Given the description of an element on the screen output the (x, y) to click on. 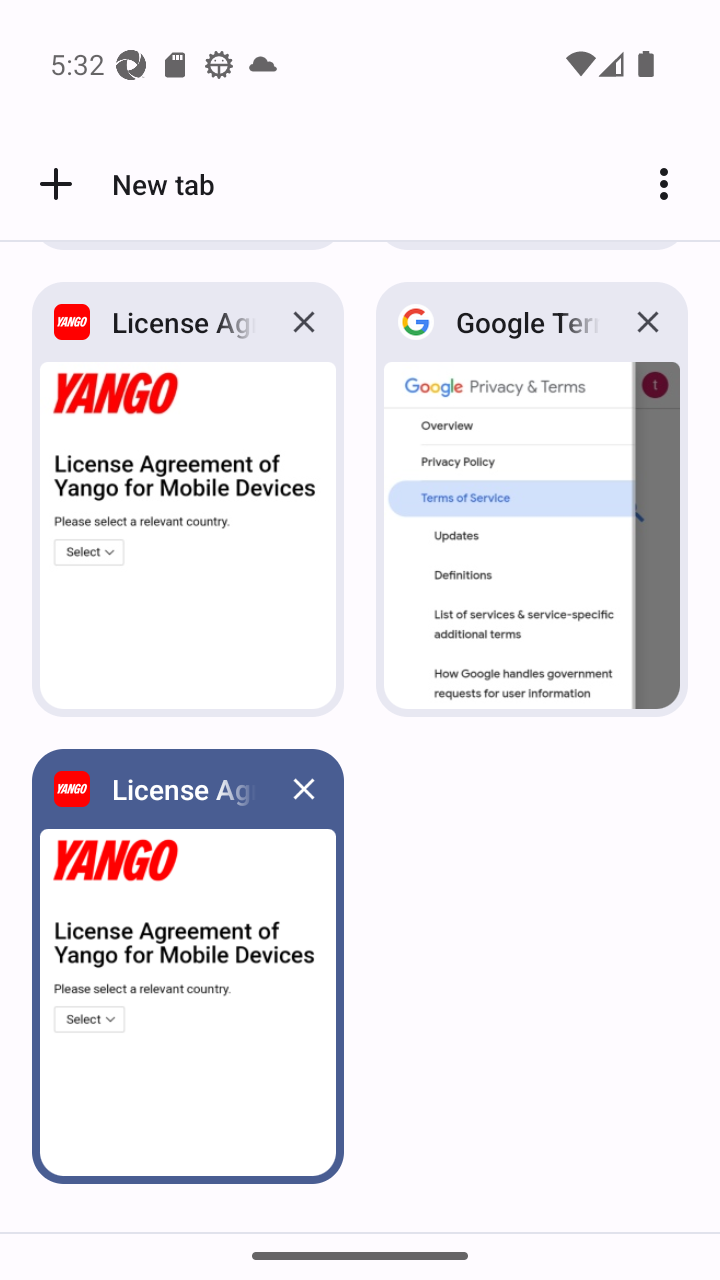
New tab (123, 184)
More options (672, 184)
